Given the description of an element on the screen output the (x, y) to click on. 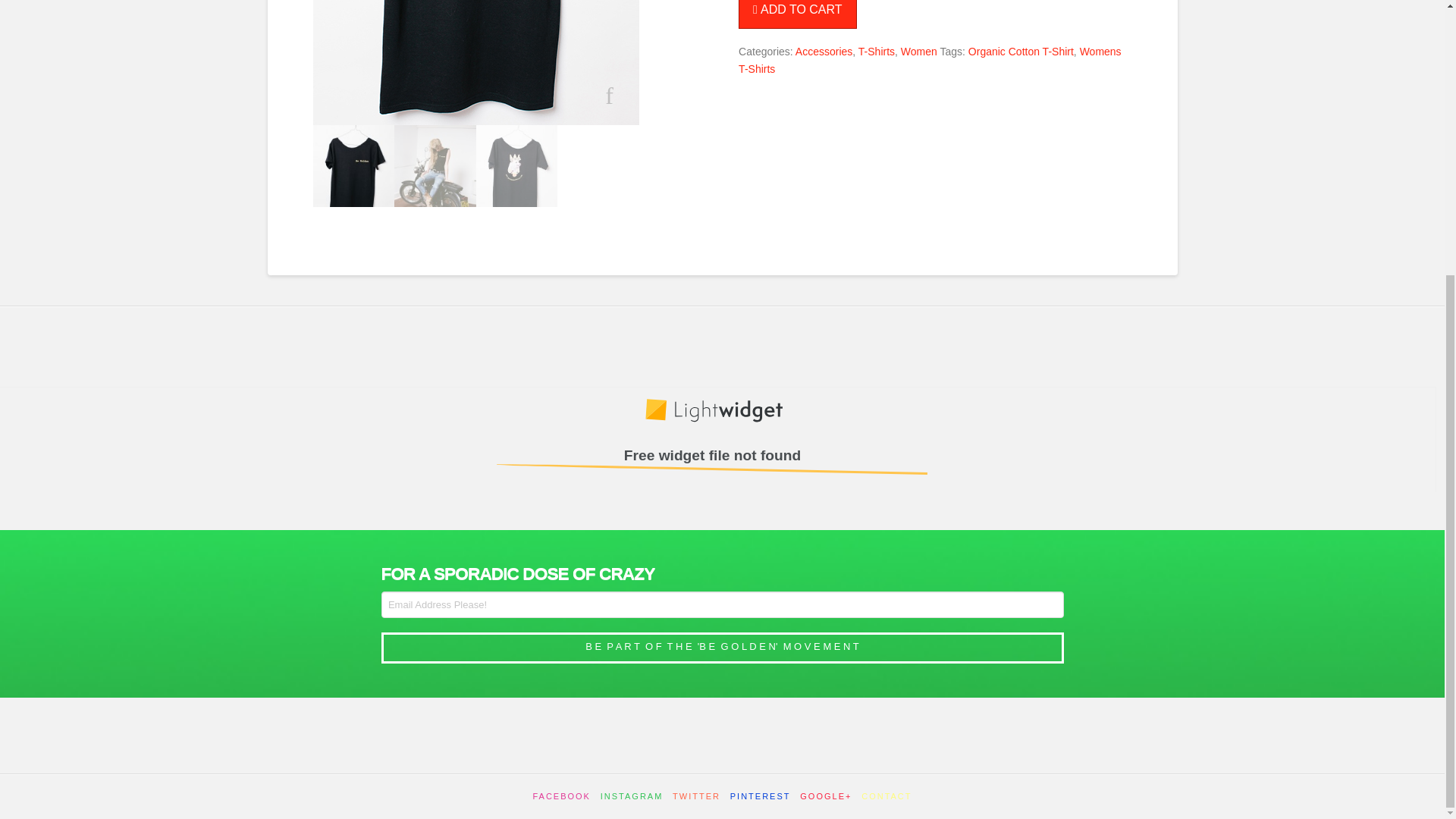
CONTACT (886, 796)
FACEBOOK (561, 796)
INSTAGRAM (631, 796)
ADD TO CART (797, 14)
Women (919, 51)
TWITTER (696, 796)
Organic Cotton T-Shirt (1021, 51)
PINTEREST (760, 796)
Womens T-Shirts (929, 60)
womens organic cotton-t-shirt (353, 166)
Golden-Bear-Belts-womens-t-shirt2B (516, 166)
womens organic cotton-t-shirt (476, 62)
belts (435, 166)
